Given the description of an element on the screen output the (x, y) to click on. 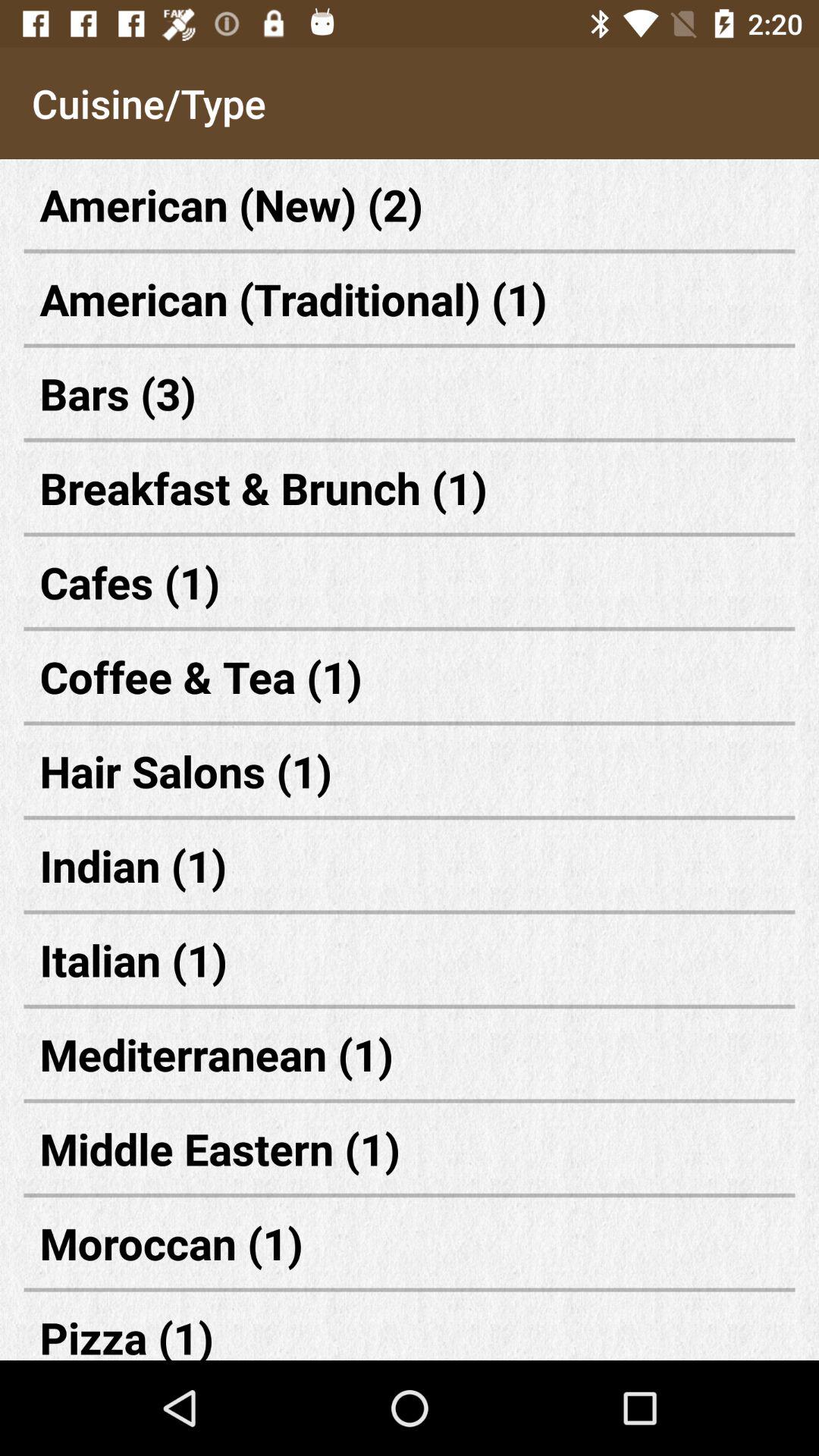
turn off the icon above the american (traditional) (1) item (409, 204)
